Given the description of an element on the screen output the (x, y) to click on. 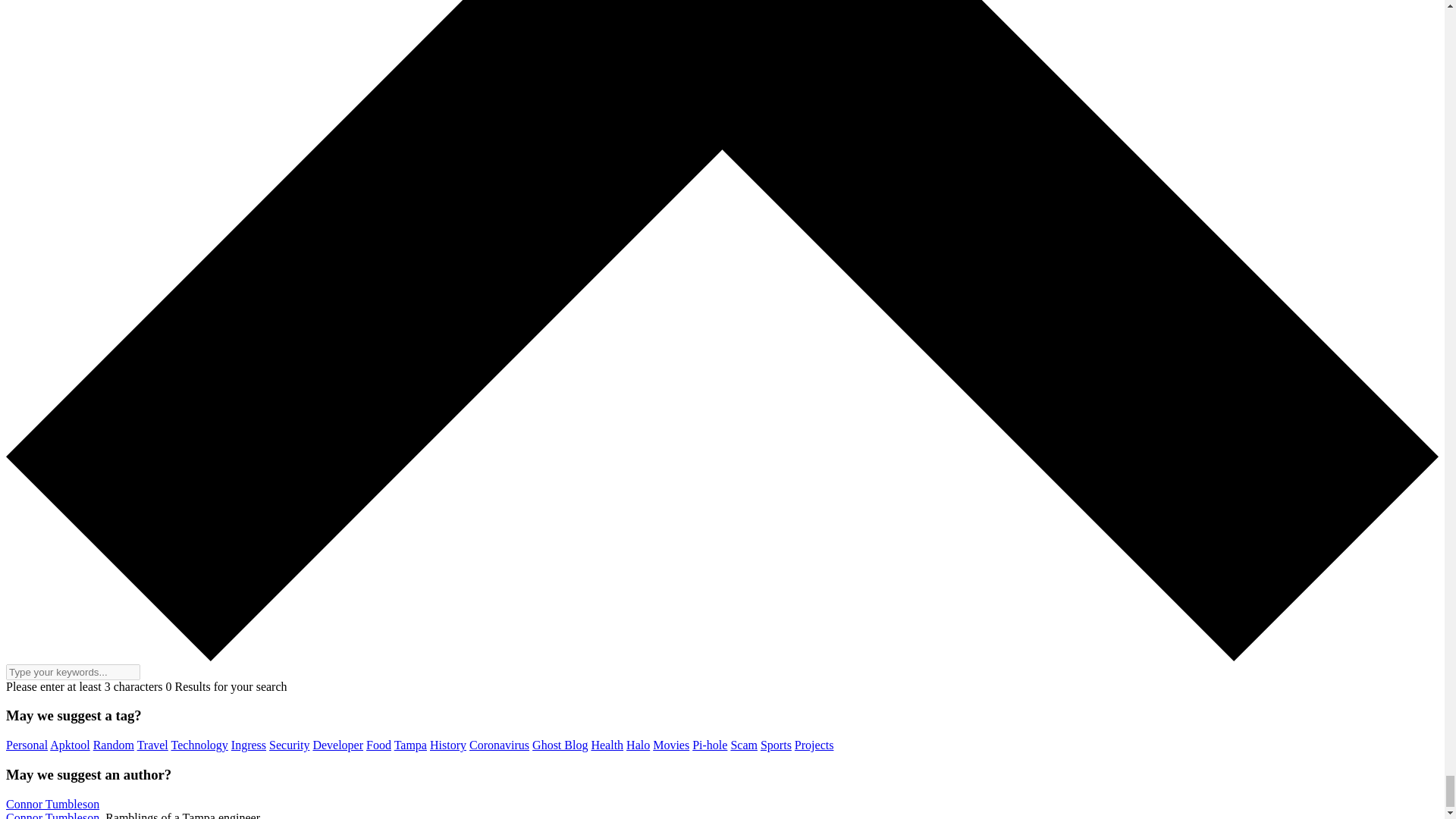
Coronavirus (498, 744)
Scam (743, 744)
Technology (199, 744)
Movies (670, 744)
Travel (152, 744)
Personal (26, 744)
Ingress (248, 744)
Pi-hole (709, 744)
Food (378, 744)
History (447, 744)
